Given the description of an element on the screen output the (x, y) to click on. 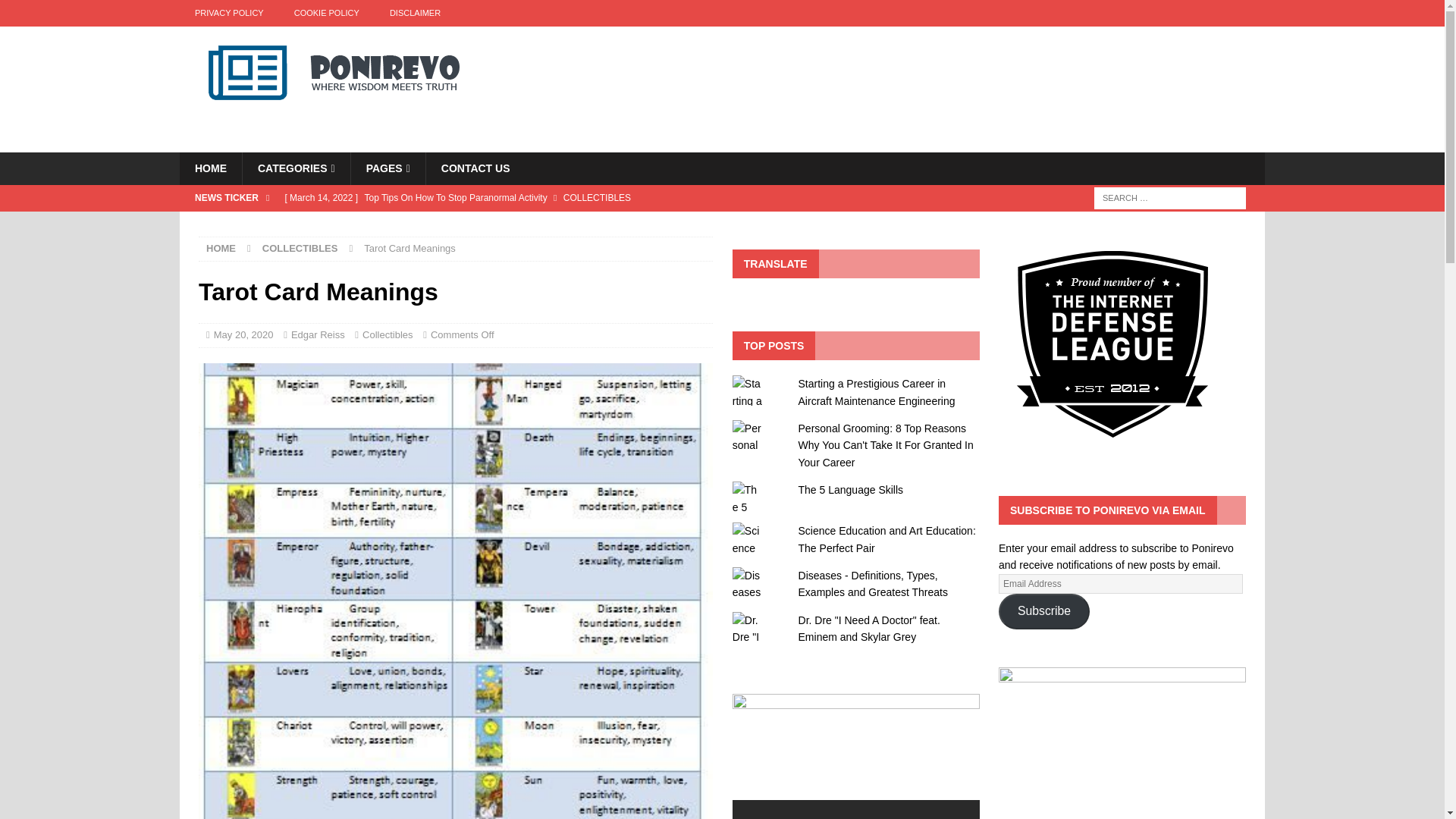
HOME (220, 247)
DISCLAIMER (414, 13)
Search (56, 11)
CATEGORIES (295, 168)
COOKIE POLICY (326, 13)
COLLECTIBLES (299, 247)
Top Tips On How To Stop Paranormal Activity (581, 197)
HOME (210, 168)
Collectibles (387, 334)
May 20, 2020 (243, 334)
PRIVACY POLICY (229, 13)
CONTACT US (475, 168)
PAGES (387, 168)
Edgar Reiss (318, 334)
